Given the description of an element on the screen output the (x, y) to click on. 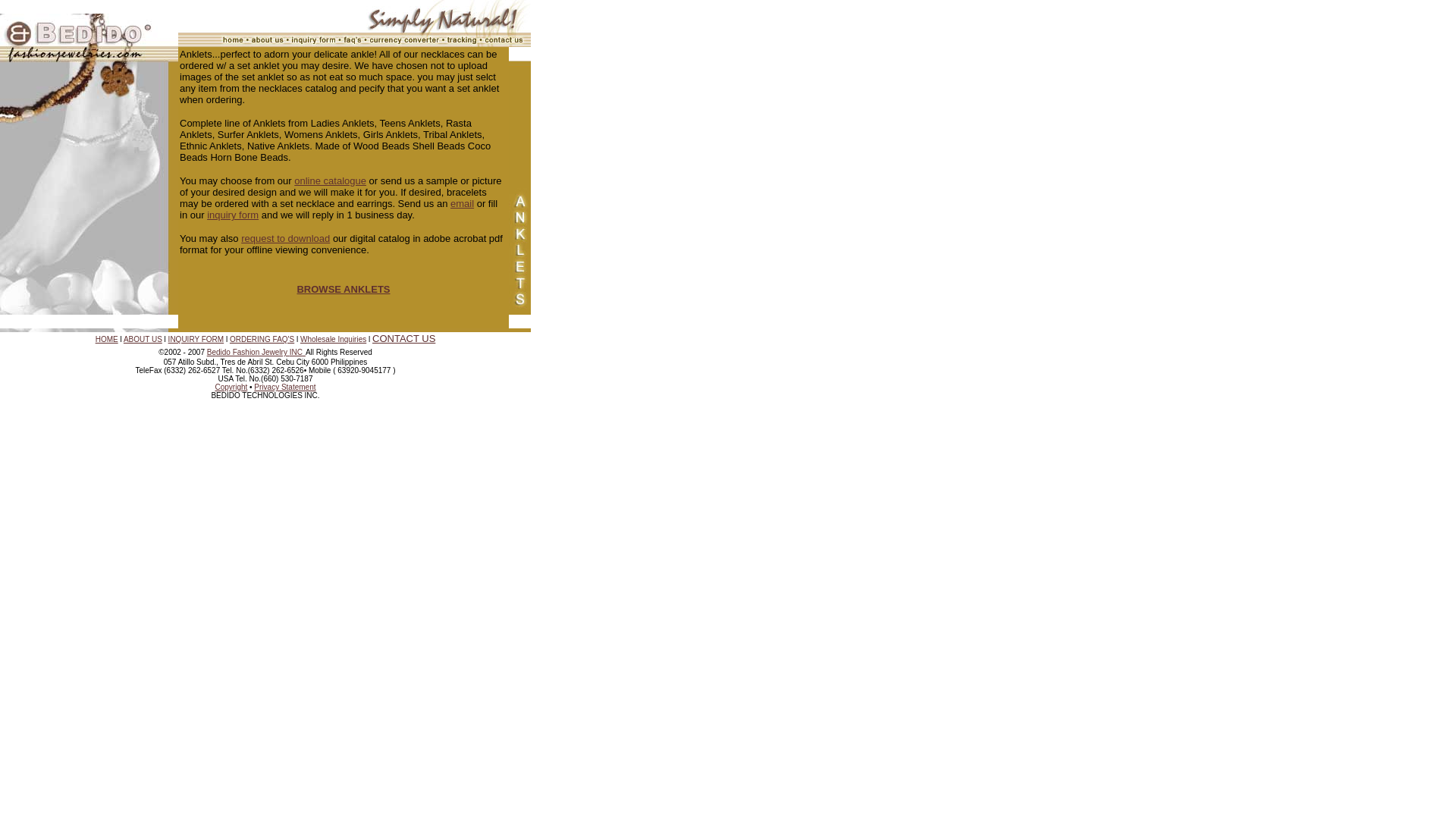
online catalogue (330, 180)
Copyright (230, 387)
Wholesale Inquiries (332, 338)
INQUIRY FORM (196, 338)
ABOUT US (142, 338)
HOME (106, 338)
Privacy Statement (284, 387)
Bedido Fashion Jewelry (247, 352)
request to download (285, 238)
ORDERING FAQ'S (262, 338)
